Given the description of an element on the screen output the (x, y) to click on. 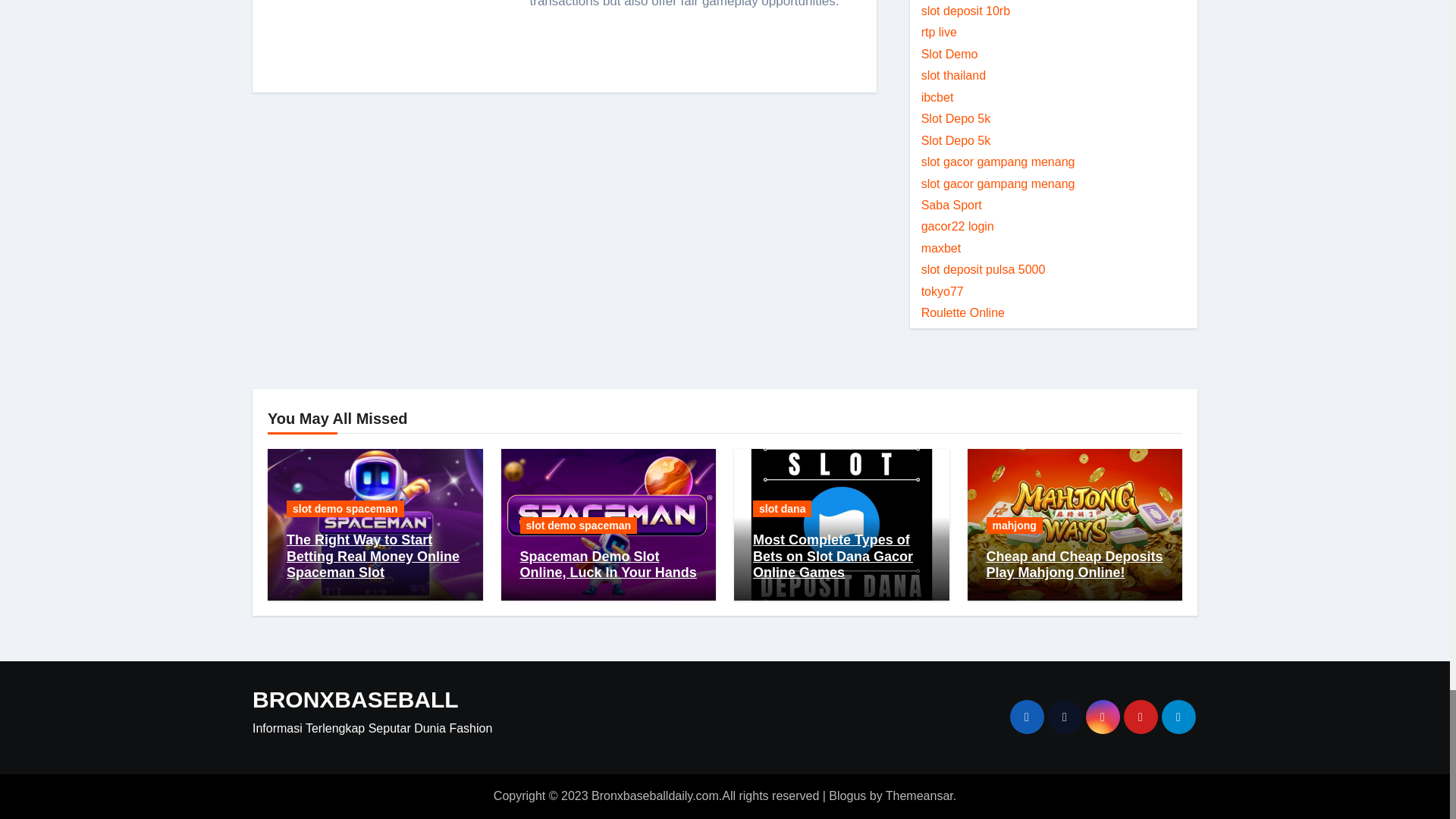
Permalink to: Spaceman Demo Slot Online, Luck In Your Hands (608, 564)
Permalink to: Cheap and Cheap Deposits Play Mahjong Online! (1073, 564)
